Given the description of an element on the screen output the (x, y) to click on. 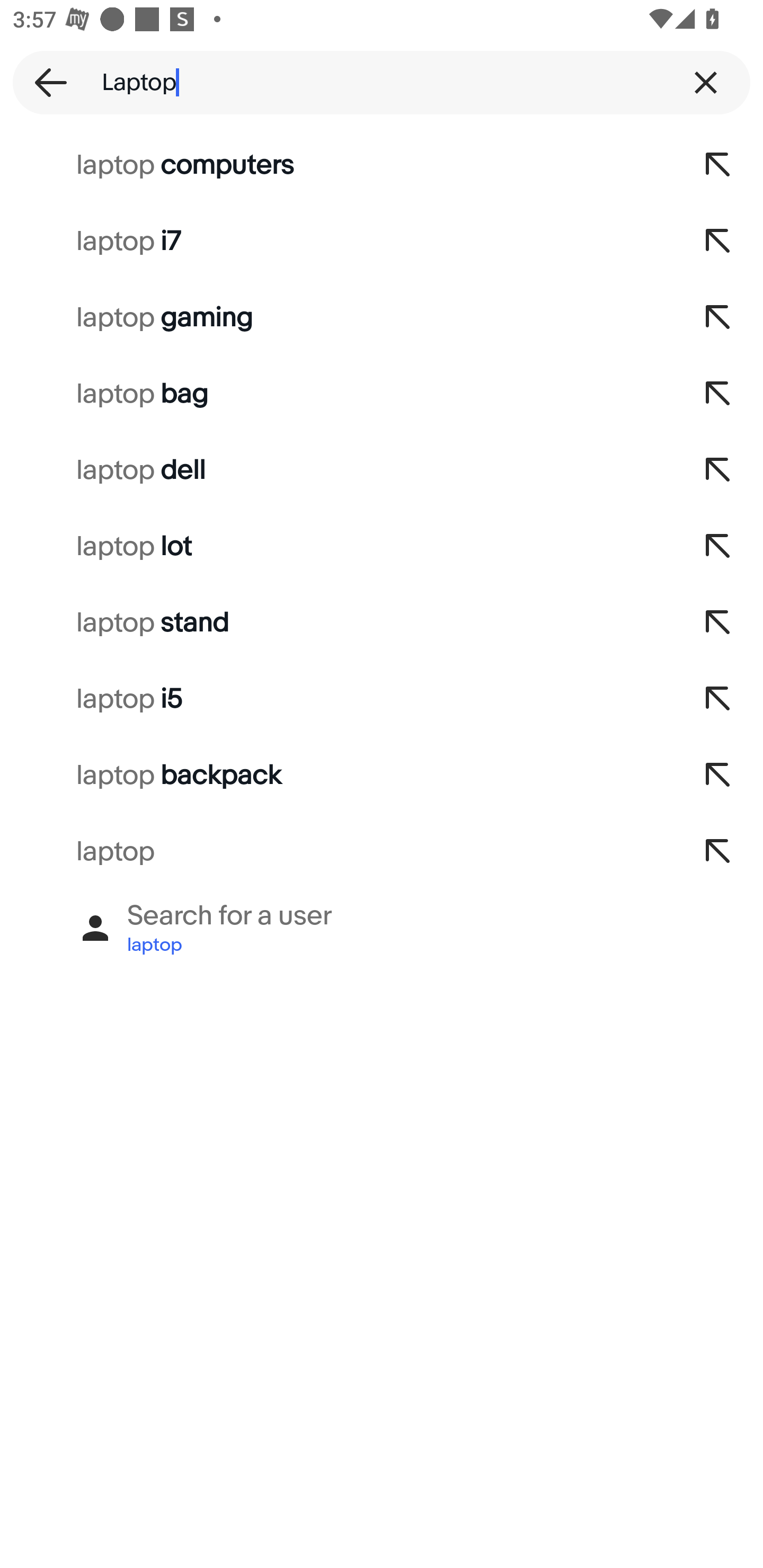
Back (44, 82)
Clear query (705, 82)
Laptop (381, 82)
laptop computers (336, 165)
Add to search query,laptop computers (718, 165)
laptop i7 (336, 241)
Add to search query,laptop i7 (718, 241)
laptop gaming (336, 317)
Add to search query,laptop gaming (718, 317)
laptop bag (336, 393)
Add to search query,laptop bag (718, 393)
laptop dell (336, 470)
Add to search query,laptop dell (718, 470)
laptop lot (336, 546)
Add to search query,laptop lot (718, 546)
laptop stand (336, 622)
Add to search query,laptop stand (718, 622)
laptop i5 (336, 698)
Add to search query,laptop i5 (718, 698)
laptop backpack (336, 774)
Add to search query,laptop backpack (718, 774)
laptop (336, 851)
Add to search query,laptop (718, 851)
Search for a user
laptop (381, 927)
